Given the description of an element on the screen output the (x, y) to click on. 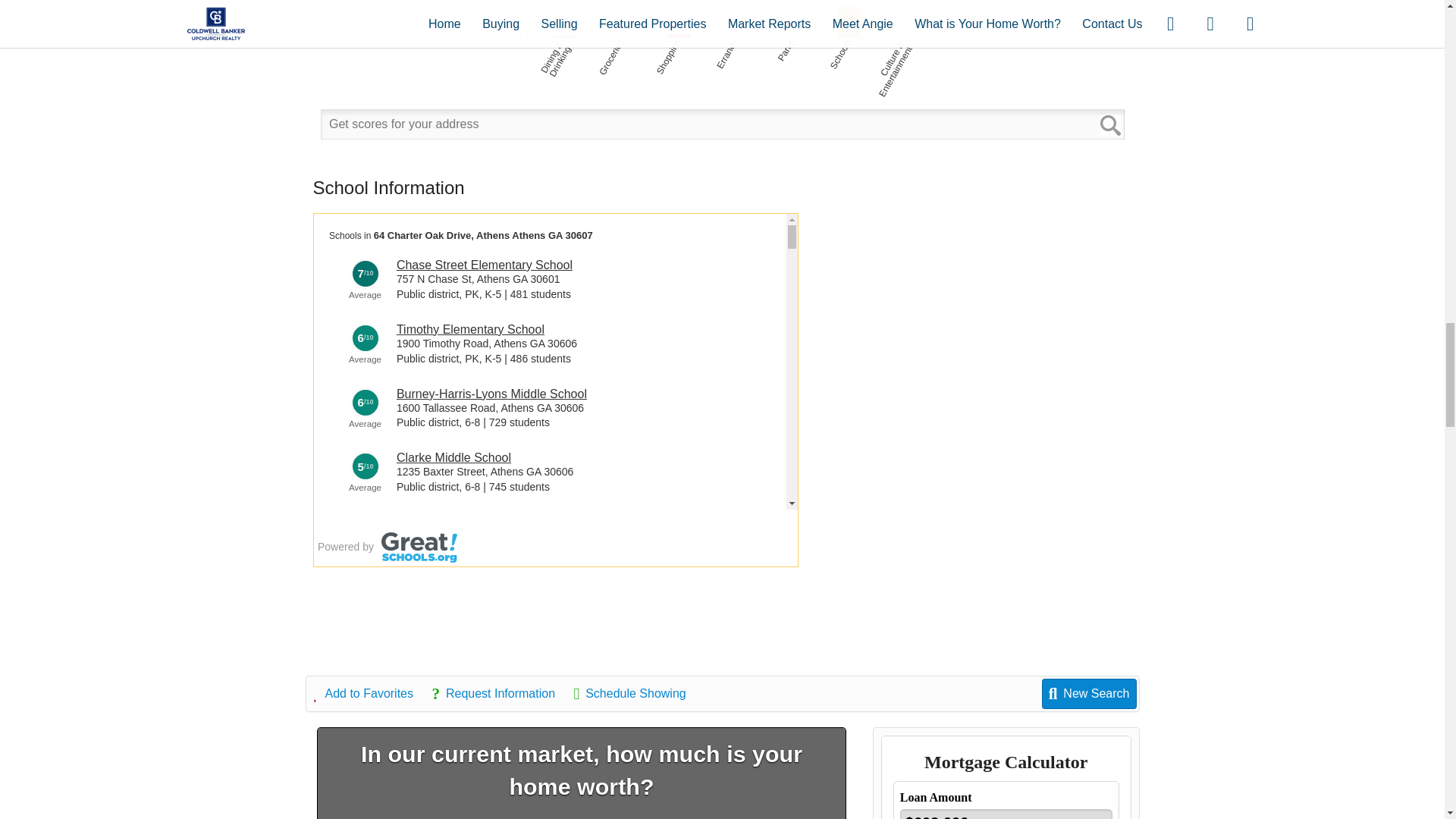
Walk Score (722, 72)
